Given the description of an element on the screen output the (x, y) to click on. 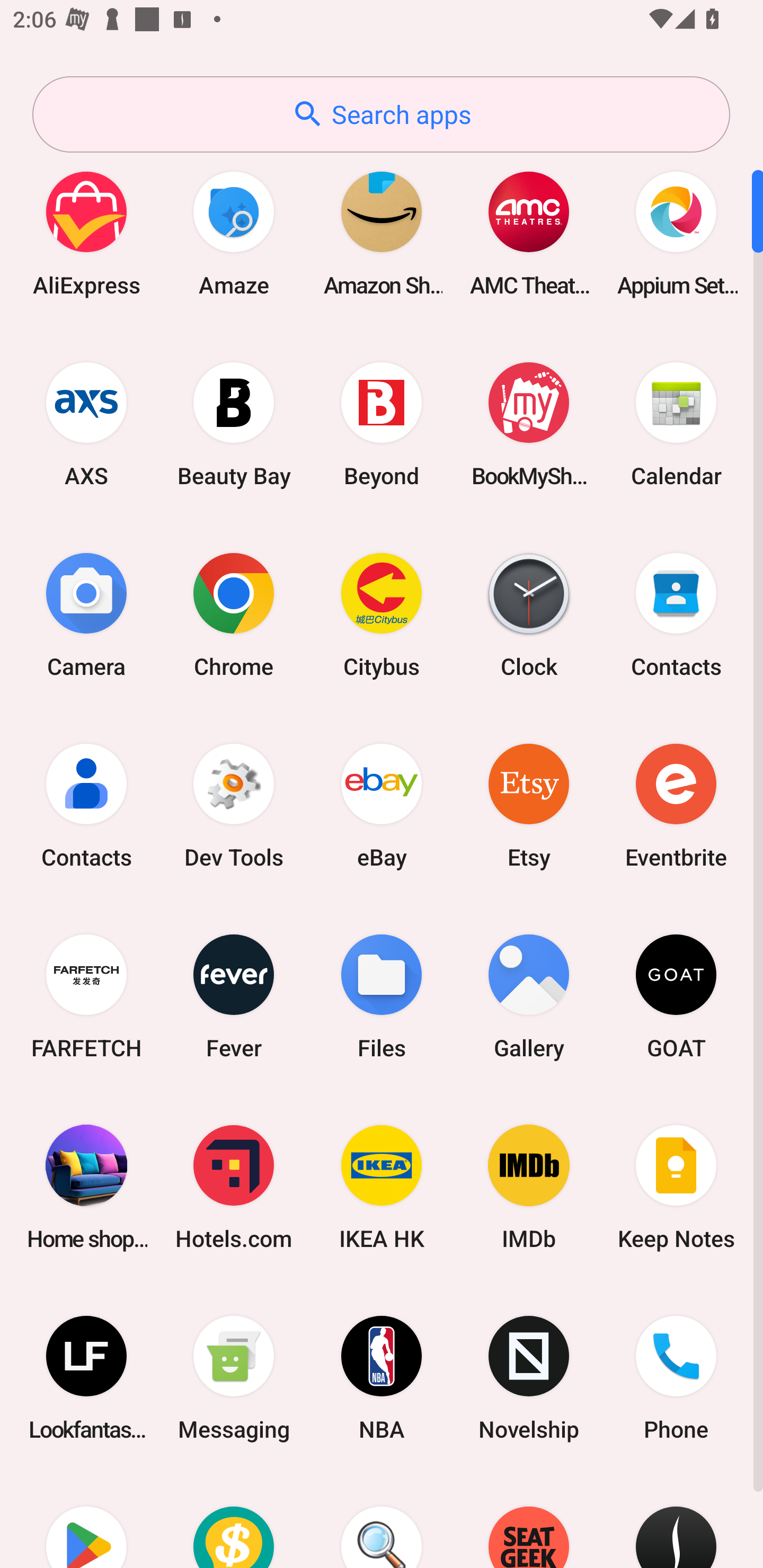
  Search apps (381, 114)
AliExpress (86, 233)
Amaze (233, 233)
Amazon Shopping (381, 233)
AMC Theatres (528, 233)
Appium Settings (676, 233)
AXS (86, 424)
Beauty Bay (233, 424)
Beyond (381, 424)
BookMyShow (528, 424)
Calendar (676, 424)
Camera (86, 614)
Chrome (233, 614)
Citybus (381, 614)
Clock (528, 614)
Contacts (676, 614)
Contacts (86, 805)
Dev Tools (233, 805)
eBay (381, 805)
Etsy (528, 805)
Eventbrite (676, 805)
FARFETCH (86, 996)
Fever (233, 996)
Files (381, 996)
Gallery (528, 996)
GOAT (676, 996)
Home shopping (86, 1186)
Hotels.com (233, 1186)
IKEA HK (381, 1186)
IMDb (528, 1186)
Keep Notes (676, 1186)
Lookfantastic (86, 1377)
Messaging (233, 1377)
NBA (381, 1377)
Novelship (528, 1377)
Phone (676, 1377)
Play Store (86, 1520)
Price (233, 1520)
Search (381, 1520)
SeatGeek (528, 1520)
Sephora (676, 1520)
